Given the description of an element on the screen output the (x, y) to click on. 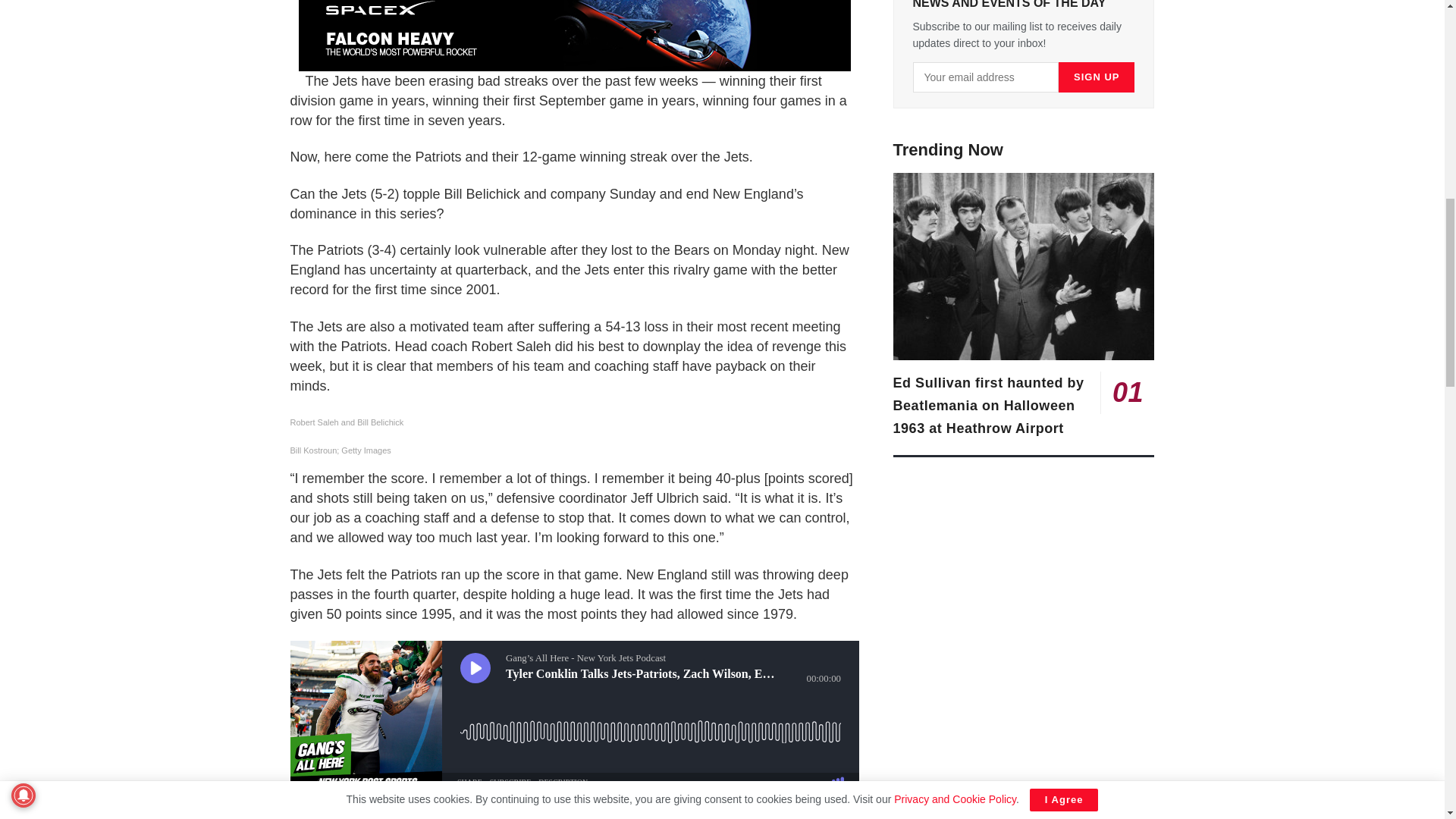
Sign up (1096, 77)
